Given the description of an element on the screen output the (x, y) to click on. 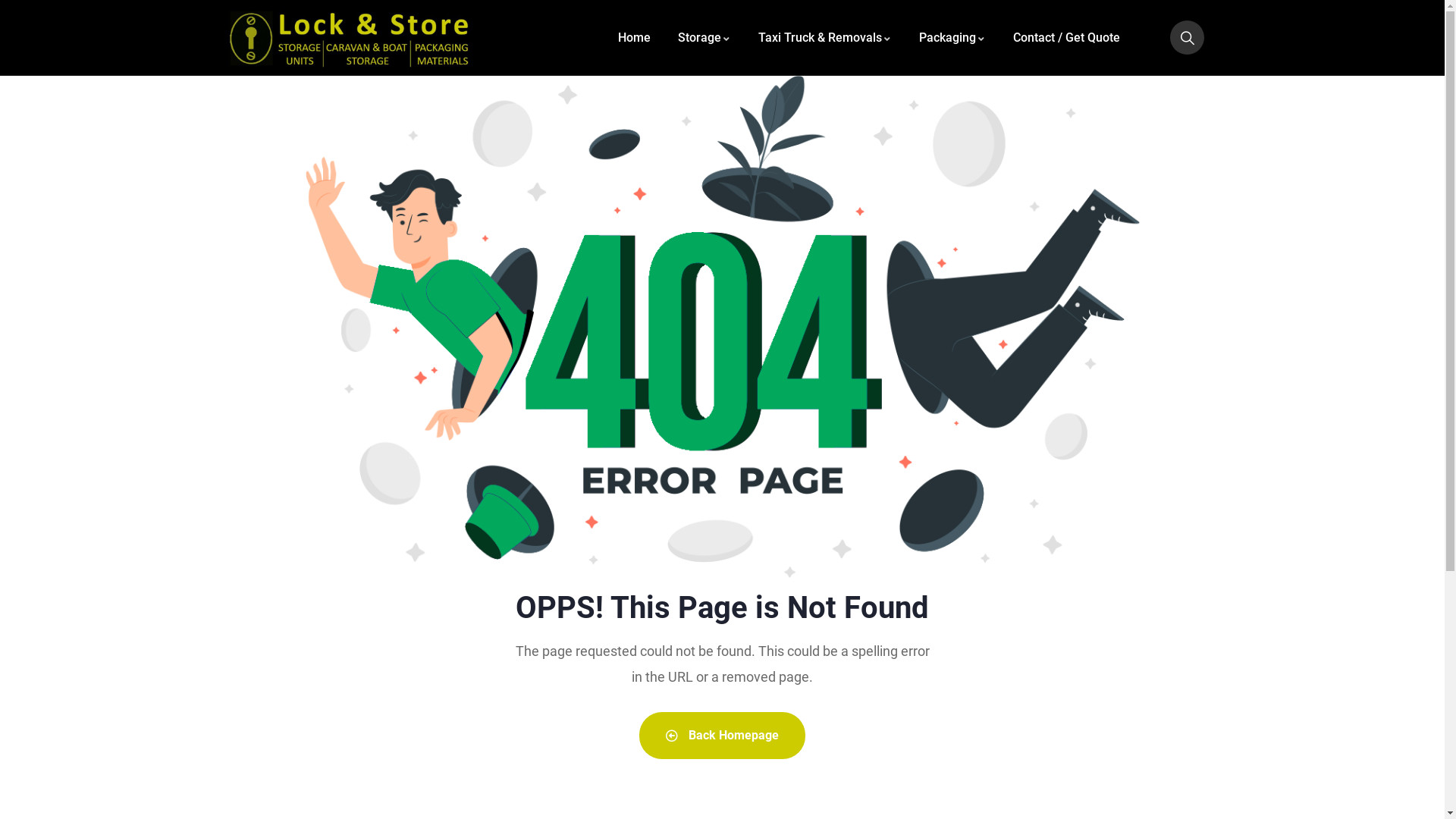
Packaging Element type: text (952, 37)
Home Element type: text (634, 37)
Back Homepage Element type: text (722, 735)
Home Element type: hover (349, 37)
Contact / Get Quote Element type: text (1066, 37)
Storage Element type: text (704, 37)
Taxi Truck & Removals Element type: text (824, 37)
